Given the description of an element on the screen output the (x, y) to click on. 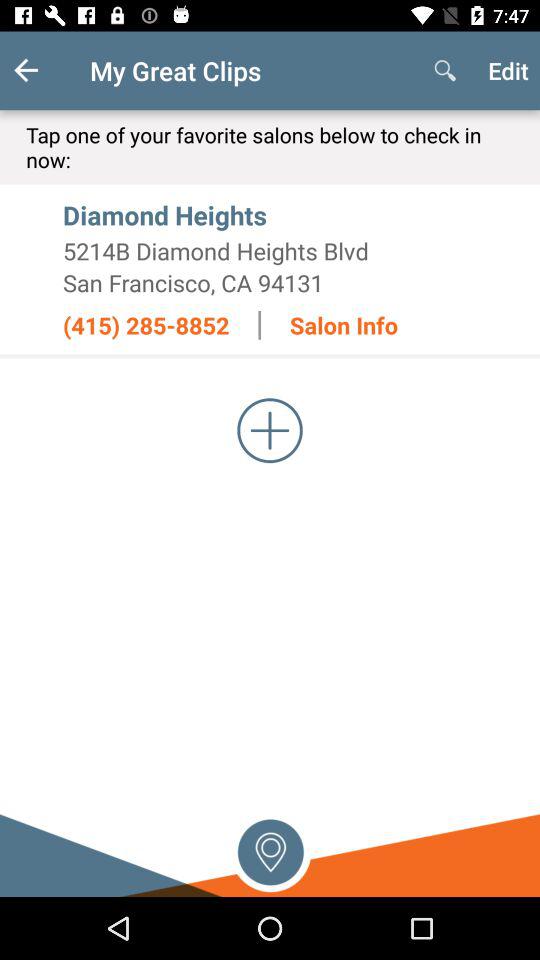
add the contact (270, 430)
